Given the description of an element on the screen output the (x, y) to click on. 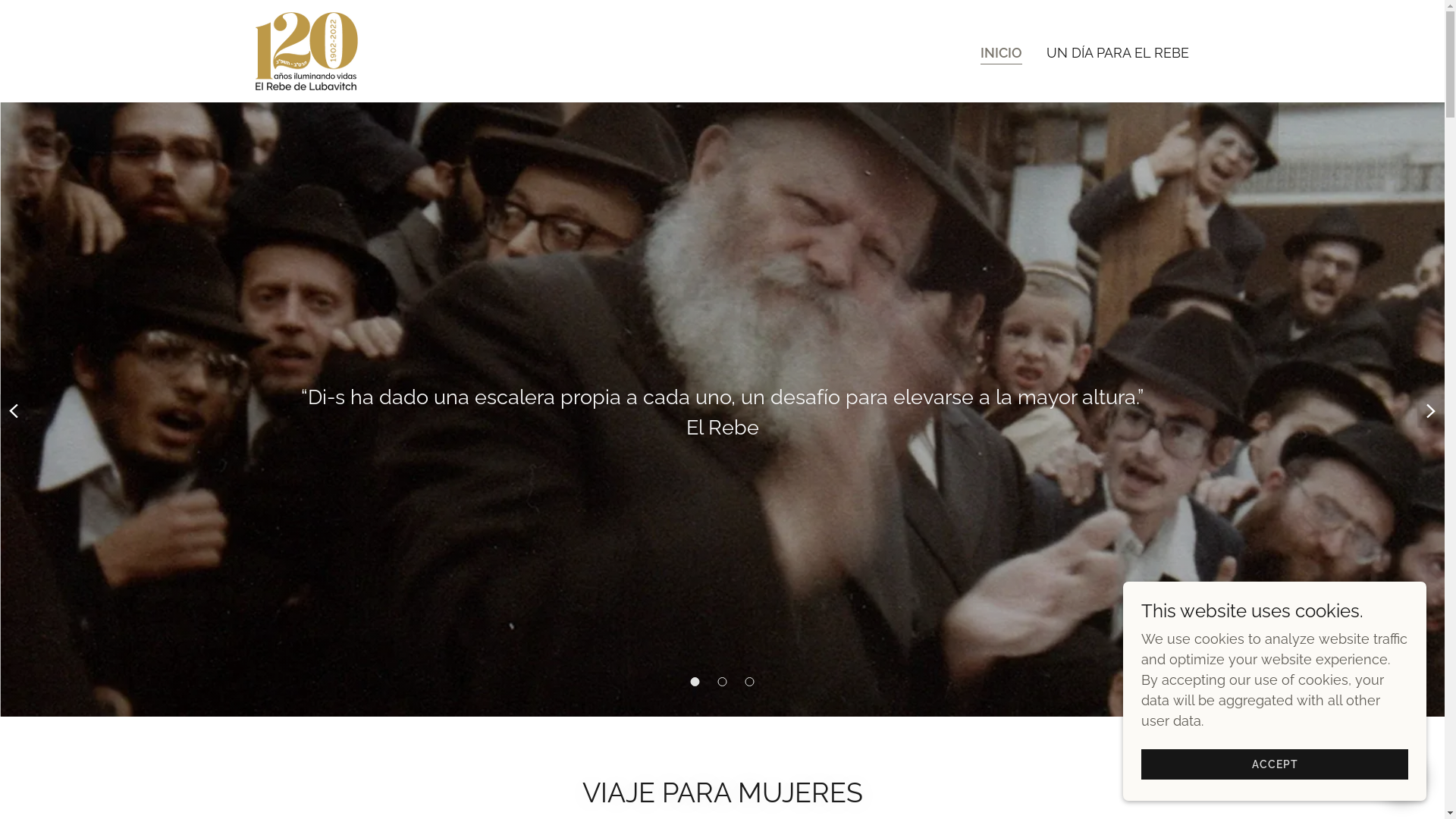
INICIO Element type: text (1001, 53)
ACCEPT Element type: text (1274, 764)
